Given the description of an element on the screen output the (x, y) to click on. 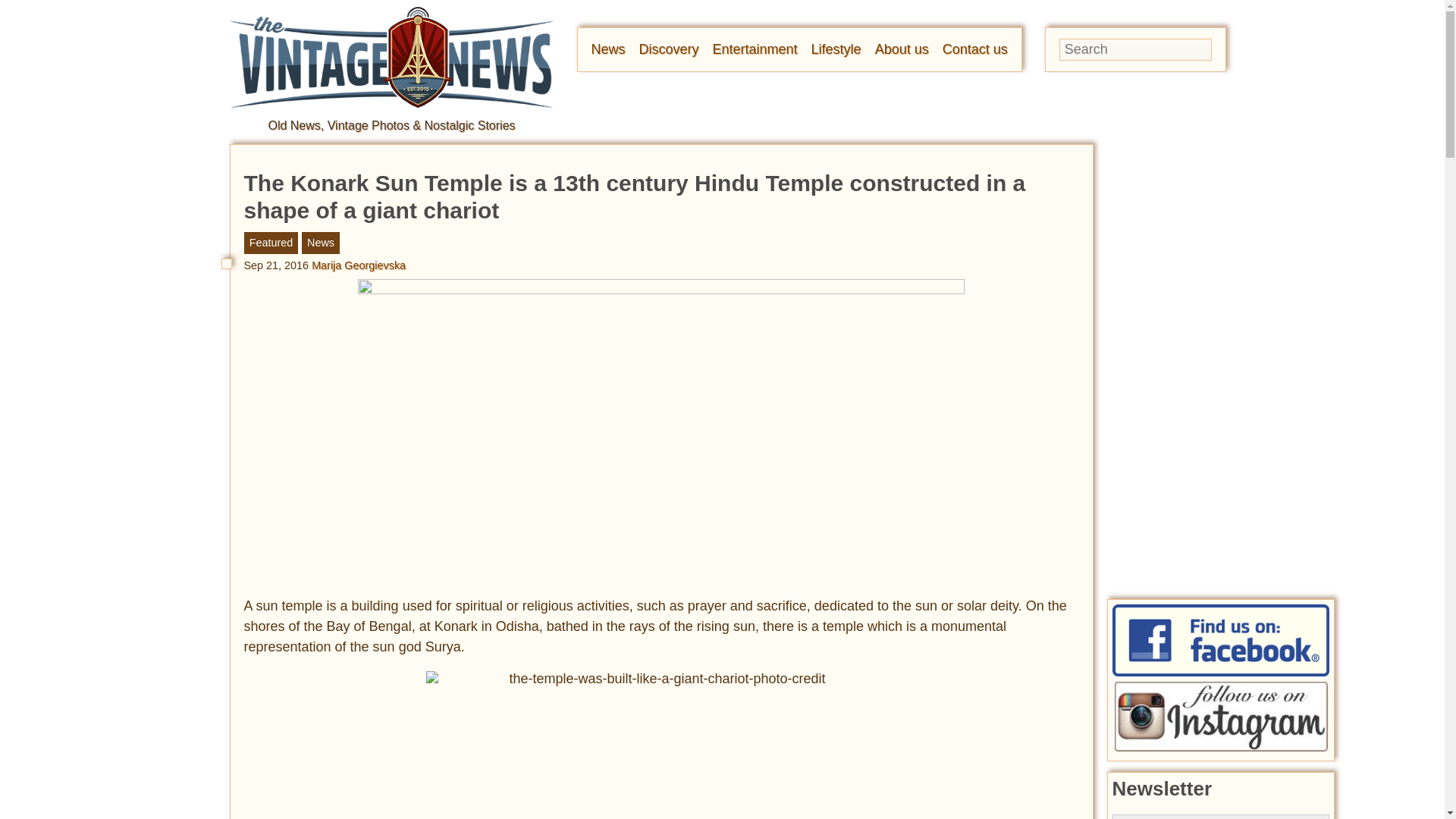
News (608, 48)
Entertainment (755, 48)
Discovery (668, 48)
About us (901, 48)
Lifestyle (835, 48)
Contact us (974, 48)
